Given the description of an element on the screen output the (x, y) to click on. 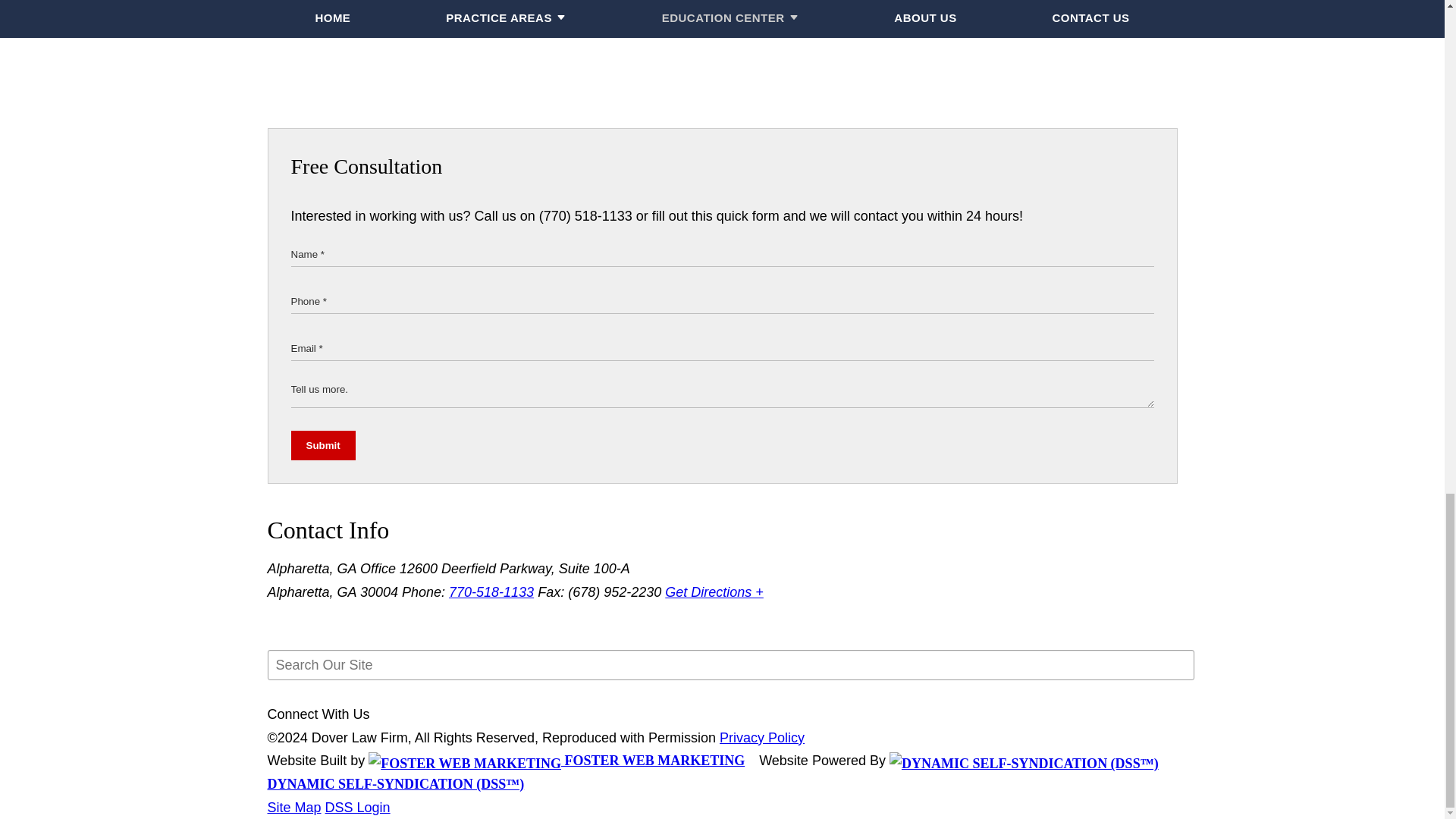
Submit (323, 445)
Site Map (293, 807)
Privacy Policy (762, 737)
DSS Login (357, 807)
FOSTER WEB MARKETING (556, 760)
770-518-1133 (491, 591)
